Given the description of an element on the screen output the (x, y) to click on. 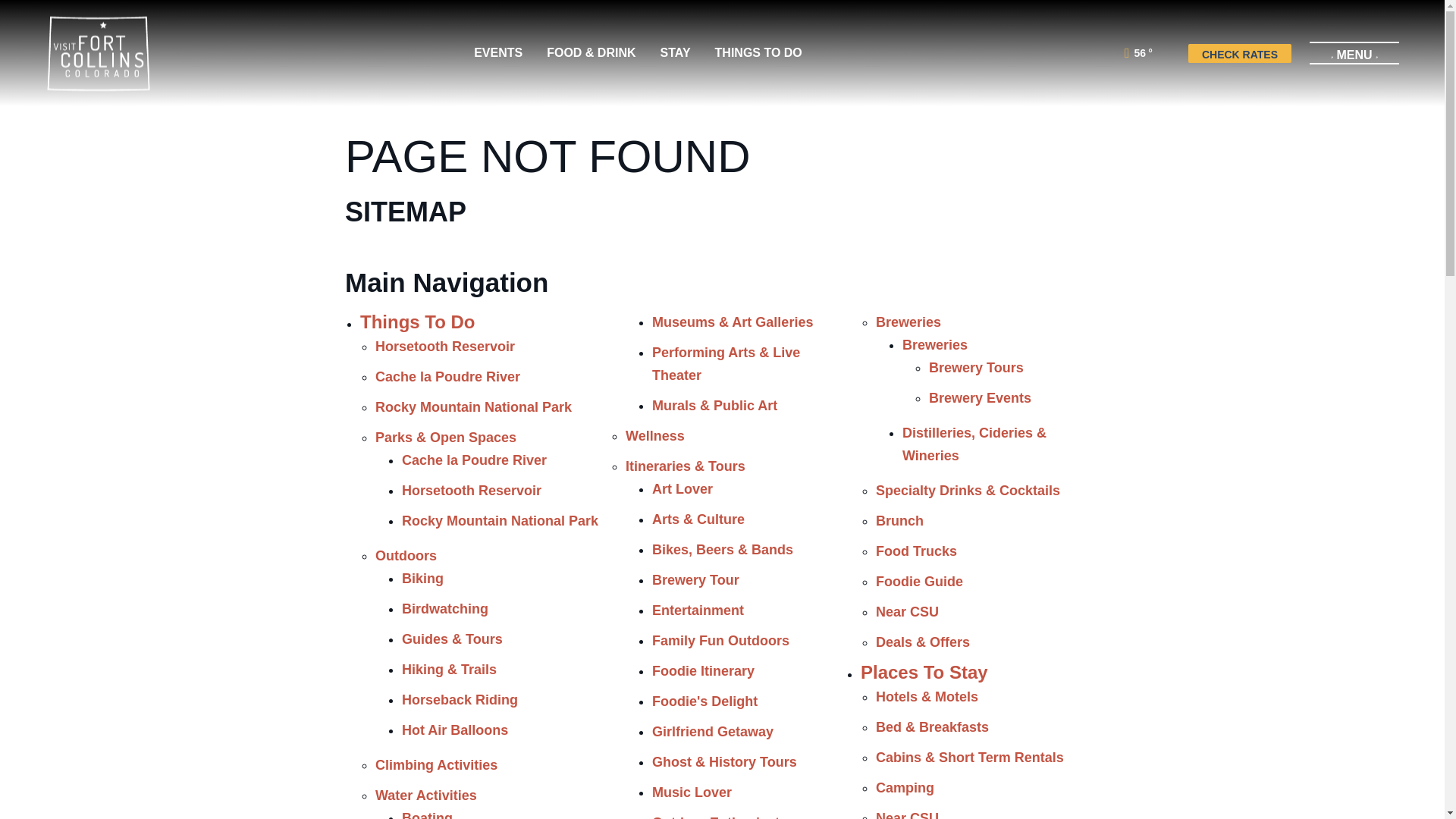
THINGS TO DO (758, 53)
CHECK RATES (1239, 53)
STAY (675, 53)
EVENTS (498, 53)
